Given the description of an element on the screen output the (x, y) to click on. 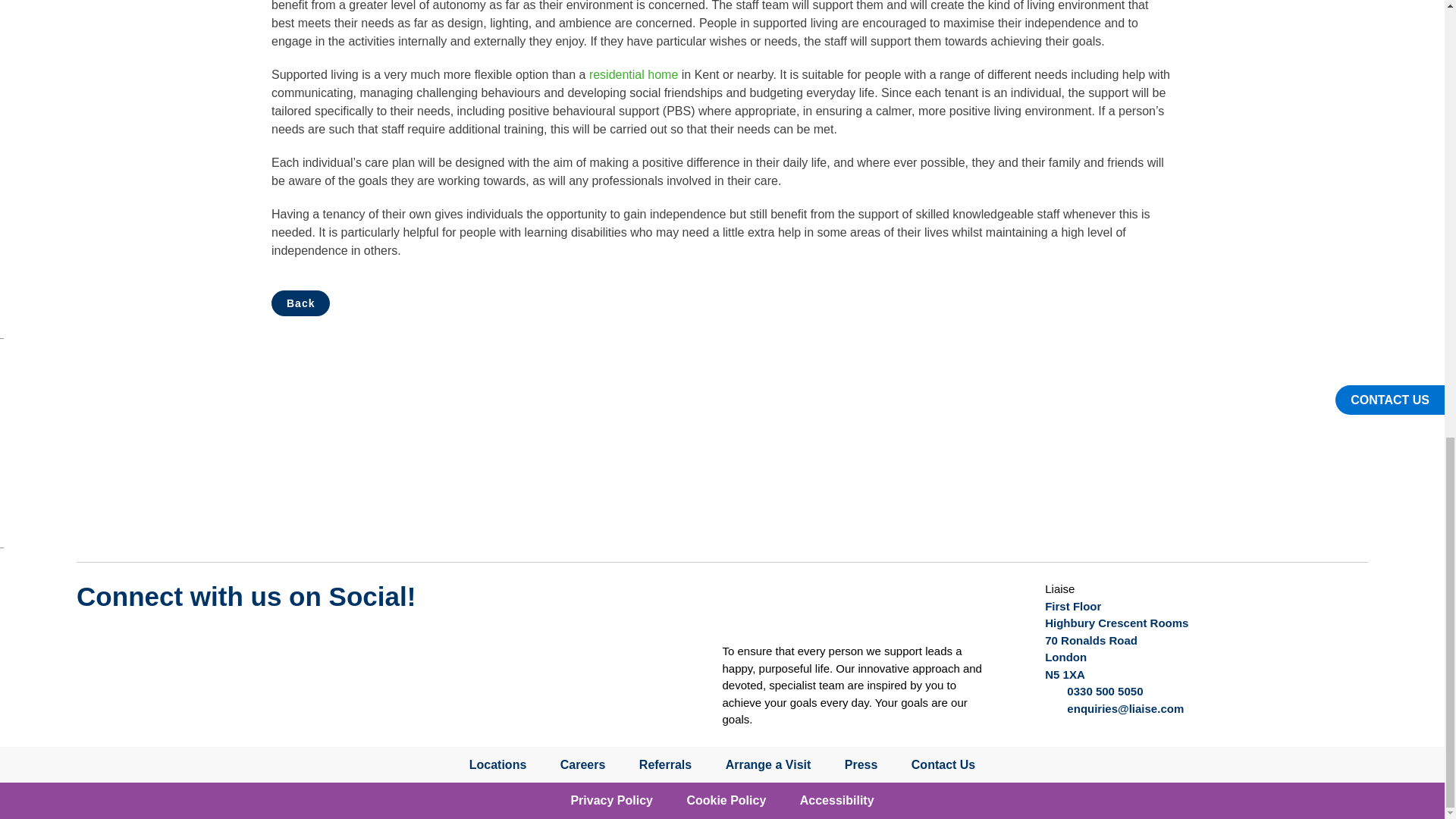
Back (300, 303)
youtube-icon (156, 642)
liaise-logo-v2 (769, 607)
fb-icon (212, 642)
linkedin-icon (269, 642)
twitter-icon (99, 642)
